Given the description of an element on the screen output the (x, y) to click on. 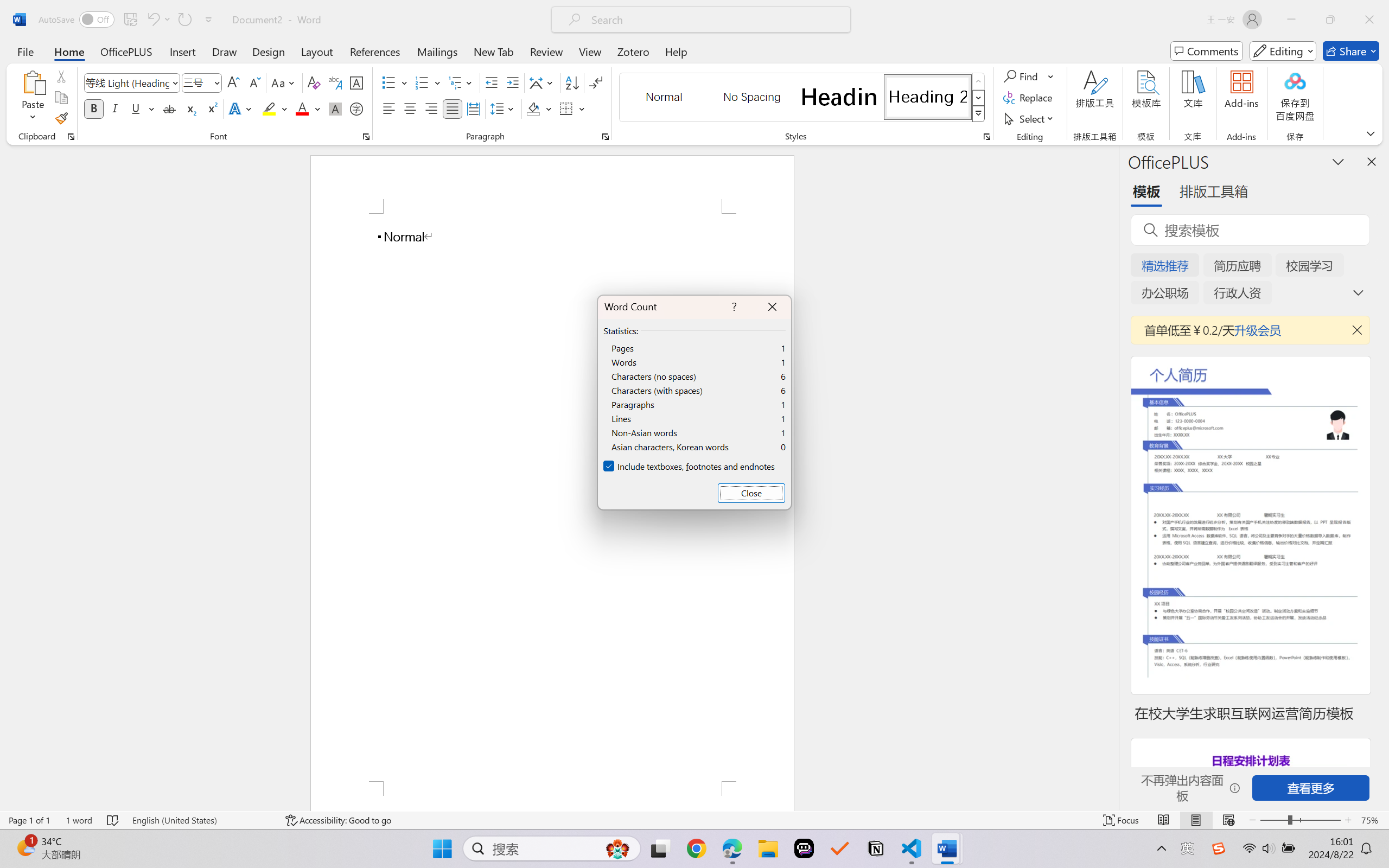
Microsoft search (715, 19)
More Options (1051, 75)
Task Pane Options (1338, 161)
Open (215, 82)
Italic (115, 108)
Undo Typing (158, 19)
Repeat Doc Close (184, 19)
Restore Down (1330, 19)
Font (132, 82)
Minimize (1291, 19)
Font Size (201, 82)
AutomationID: DynamicSearchBoxGleamImage (617, 848)
